Given the description of an element on the screen output the (x, y) to click on. 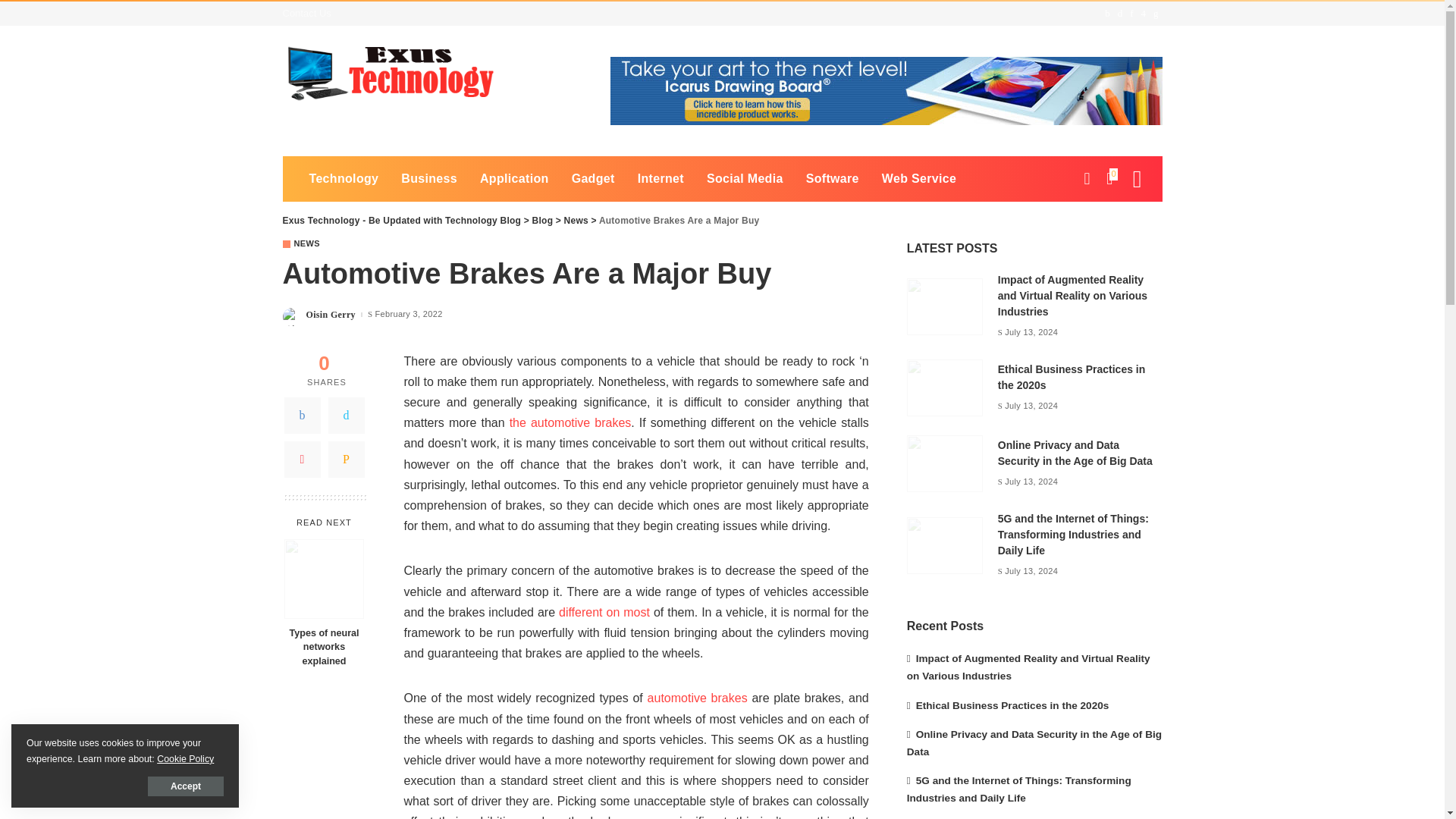
Exus Technology - Be Updated with Technology Blog (392, 73)
